Given the description of an element on the screen output the (x, y) to click on. 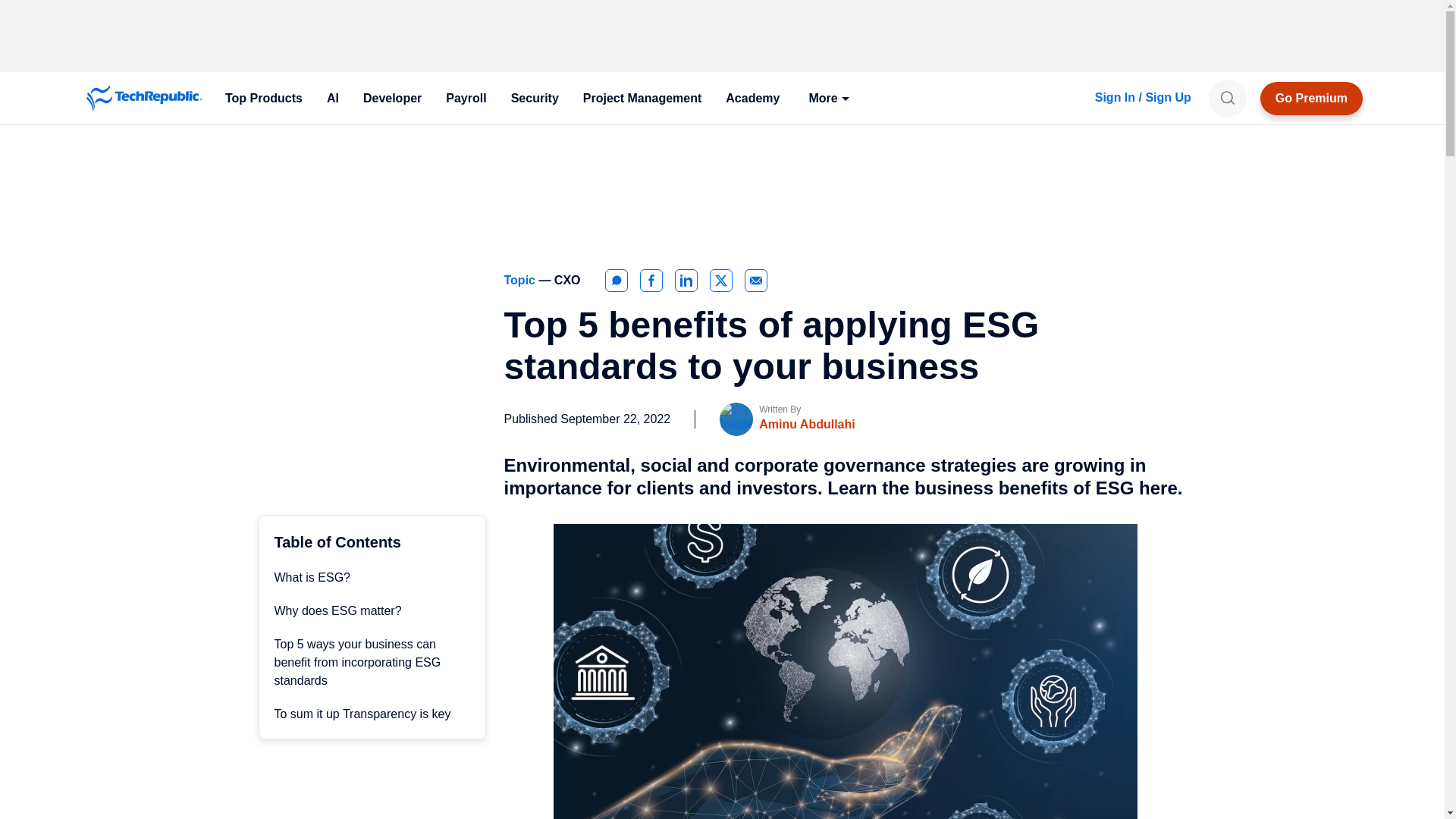
TechRepublic (143, 98)
Security (534, 98)
TechRepublic (143, 98)
Top Products (263, 98)
Topic (520, 279)
Go Premium (1311, 98)
Why does ESG matter? (338, 610)
Payroll (465, 98)
What is ESG? (312, 576)
To sum it up Transparency is key (363, 713)
TechRepublic (143, 98)
Project Management (641, 98)
TechRepublic Premium (1311, 98)
Academy (752, 98)
